Given the description of an element on the screen output the (x, y) to click on. 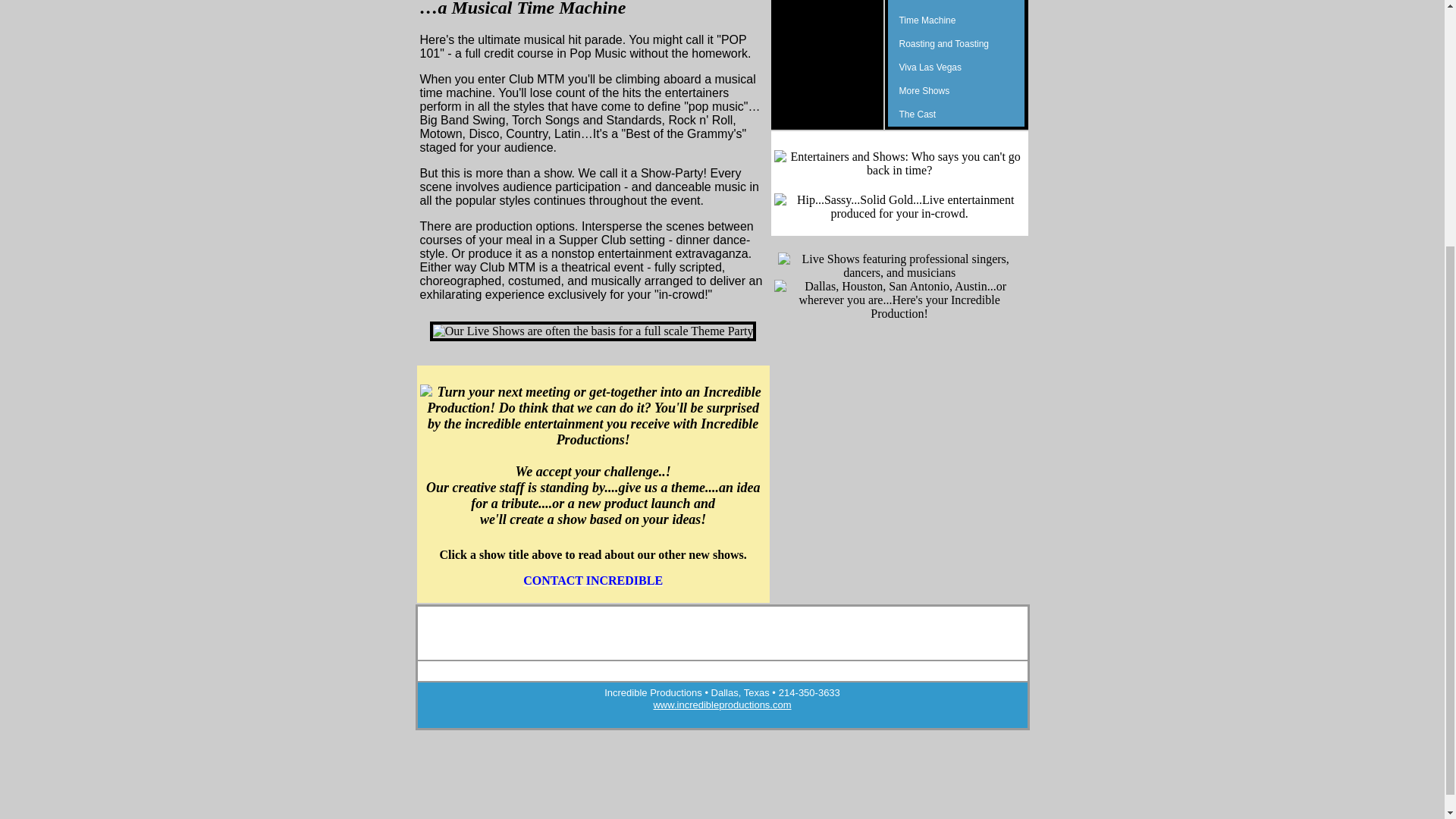
CREATIVE EVENT TEAM (804, 639)
www.incredibleproductions.com (721, 704)
MEETING SERVICES (759, 628)
New Show Ideas! (956, 91)
EVENT PLANNING (838, 628)
More Shows (956, 91)
ABOUT US (565, 628)
Having fun with a special guest. (956, 44)
The Cast (956, 114)
Time Machine (956, 20)
NEWS (740, 639)
All about Texas! (956, 4)
CONTACT US (905, 628)
Talented singers and dancers. (956, 114)
CONTACT INCREDIBLE (592, 580)
